Given the description of an element on the screen output the (x, y) to click on. 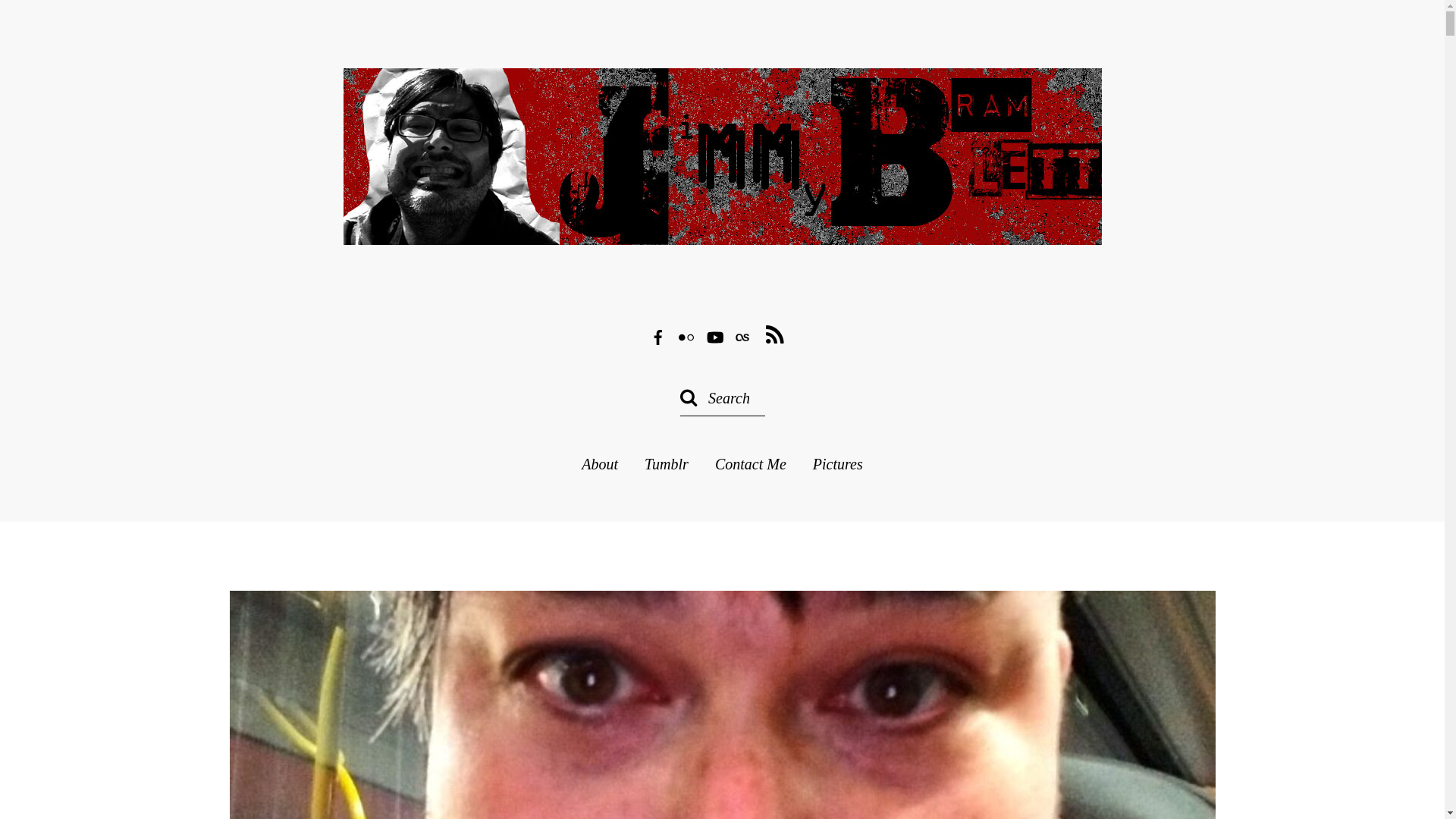
Tumblr (837, 464)
Lost in Berlin (666, 464)
RSS (721, 223)
About (774, 335)
Contact Me (598, 464)
